Given the description of an element on the screen output the (x, y) to click on. 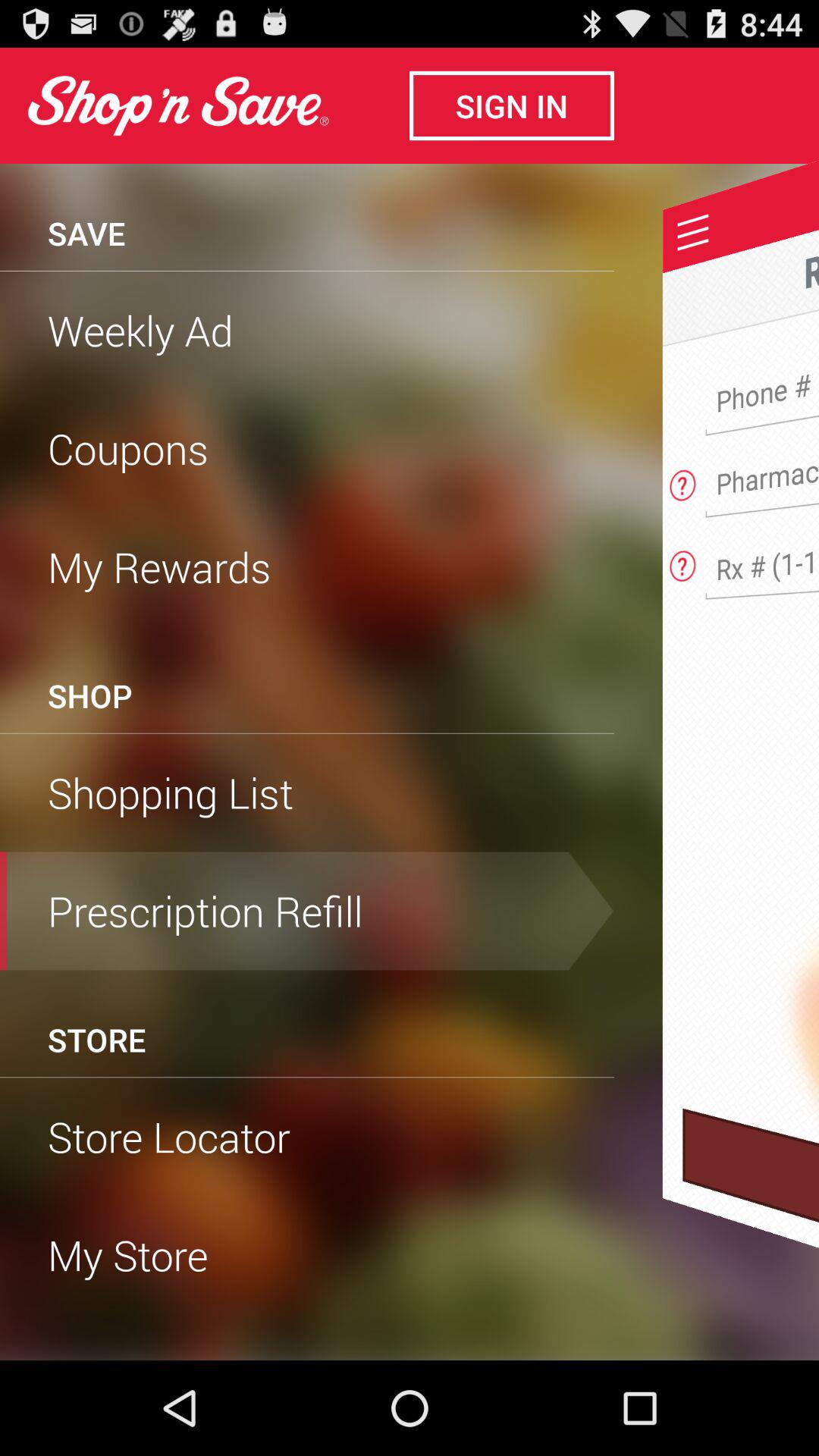
scroll until shop (89, 695)
